Given the description of an element on the screen output the (x, y) to click on. 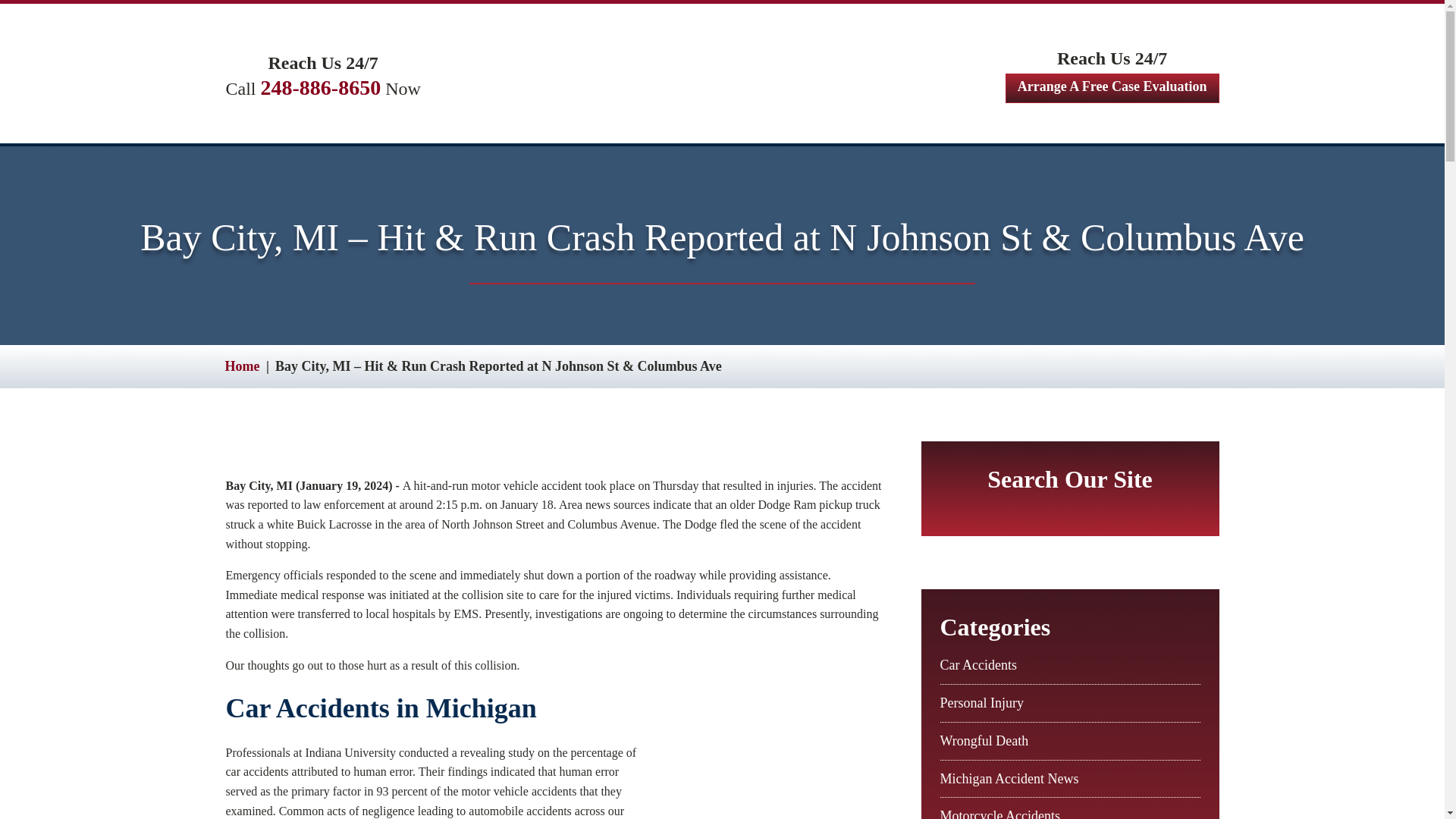
Motorcycle Accidents (999, 813)
Michigan Accident News (1009, 778)
Home (241, 365)
Wrongful Death (984, 740)
Breadcrumb link to Home (241, 365)
Personal Injury (981, 702)
248-886-8650 (320, 87)
Arrange A Free Case Evaluation (1113, 88)
Car Accidents (978, 664)
